Given the description of an element on the screen output the (x, y) to click on. 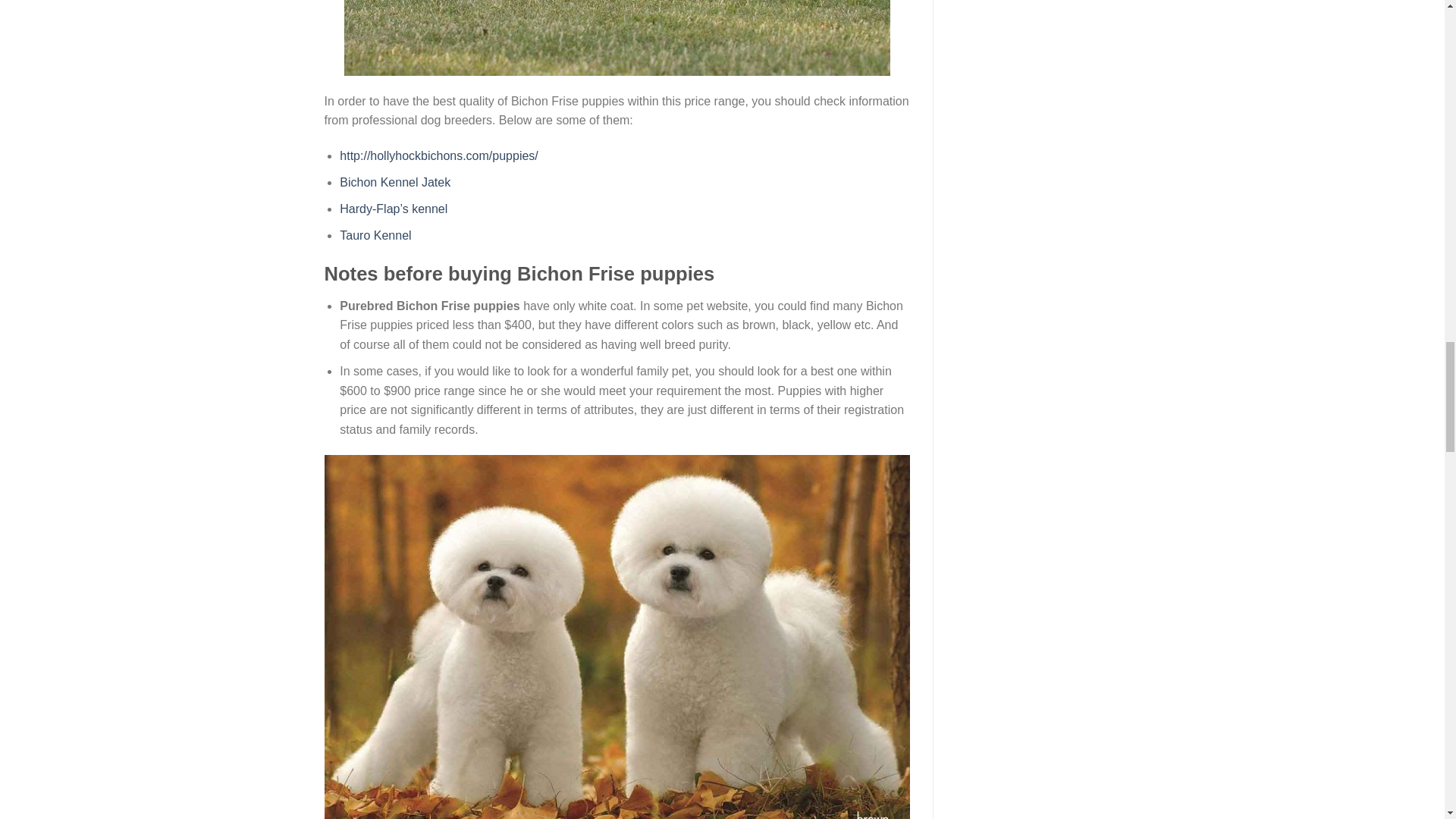
Tauro Kennel (374, 235)
Bichon Kennel Jatek (394, 182)
